Given the description of an element on the screen output the (x, y) to click on. 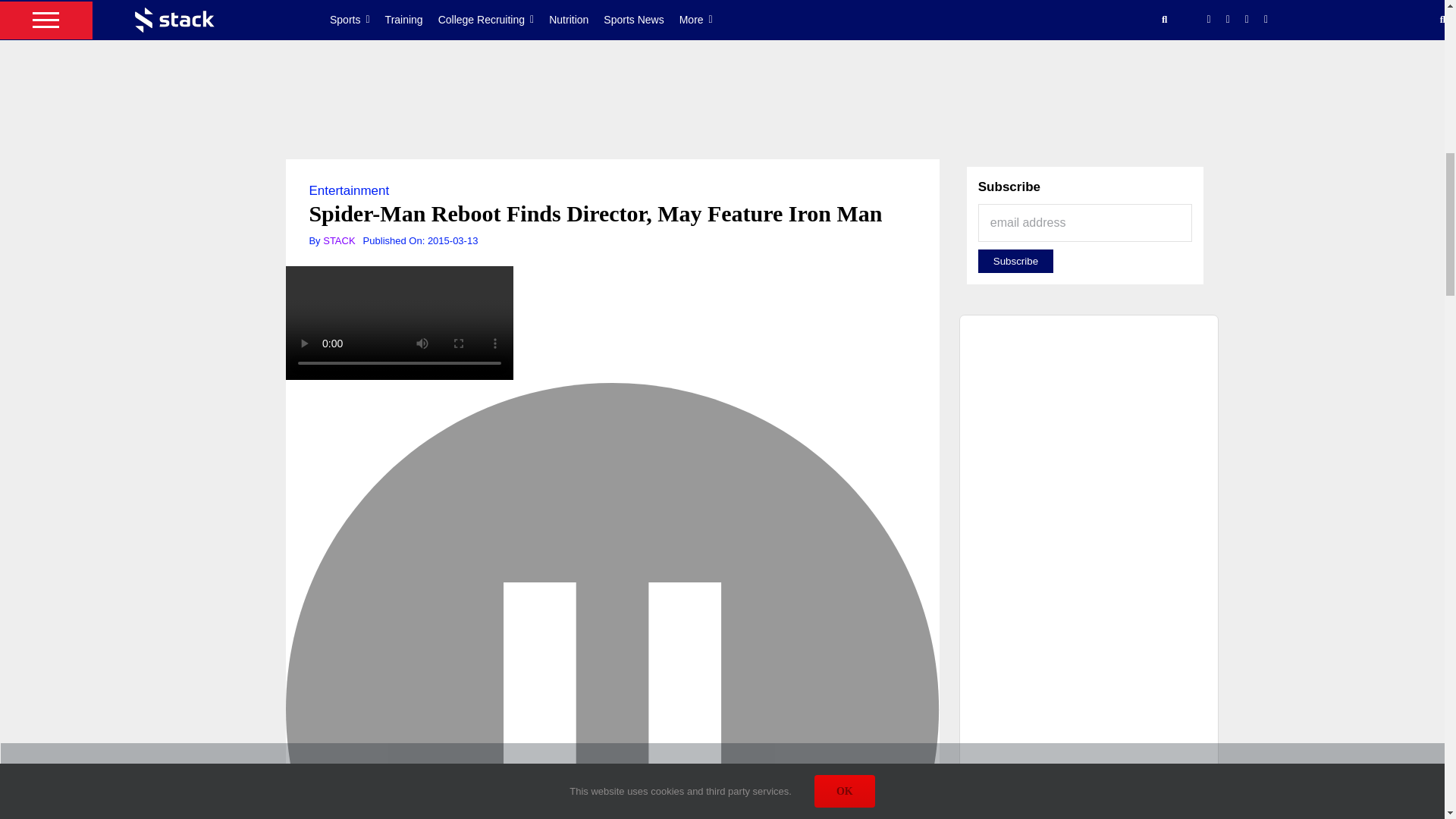
3rd party ad content (721, 110)
Subscribe (1015, 260)
Posts by STACK (339, 240)
Entertainment (348, 190)
